Given the description of an element on the screen output the (x, y) to click on. 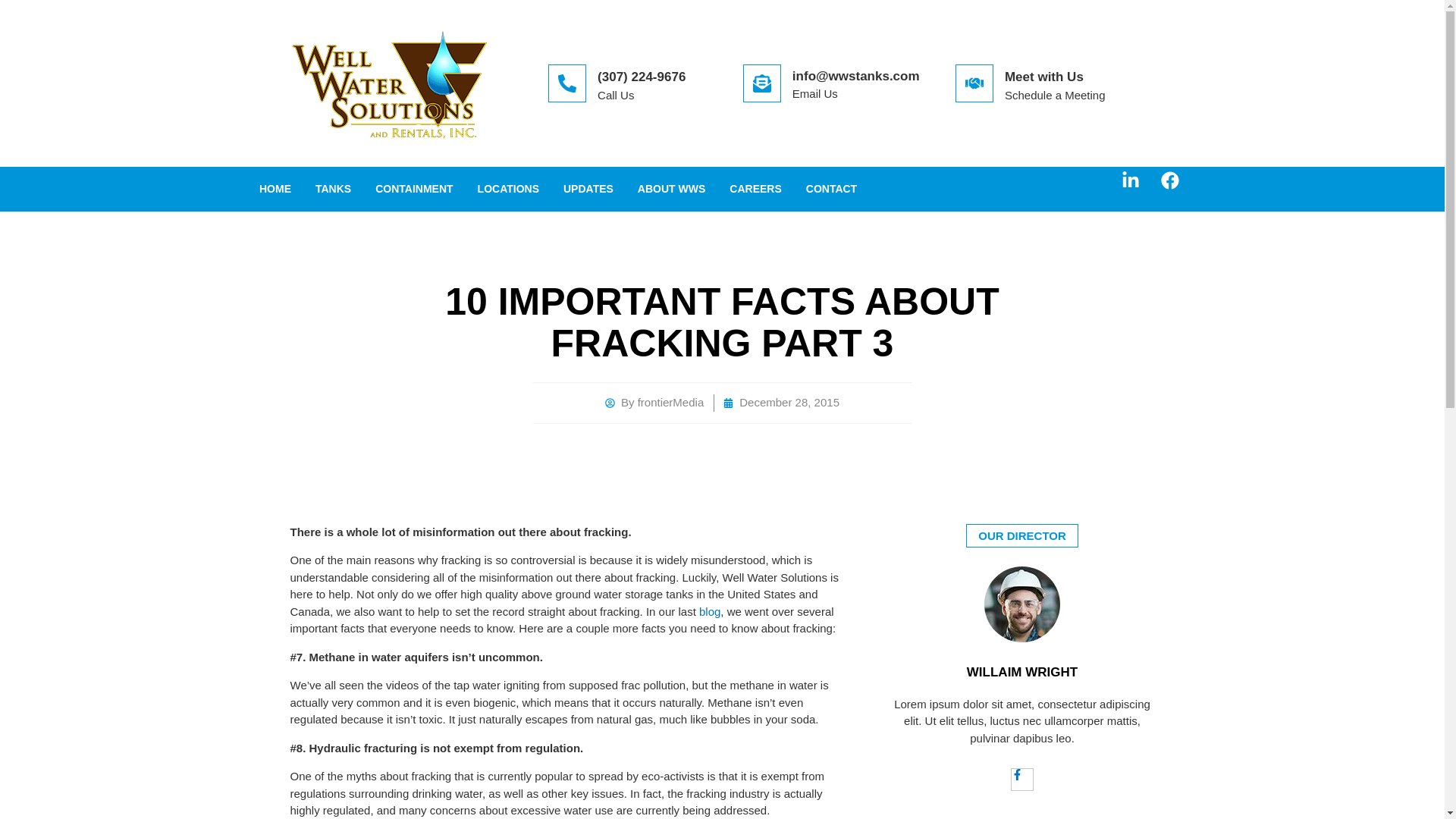
CONTACT (831, 189)
CAREERS (755, 189)
CONTAINMENT (413, 189)
UPDATES (588, 189)
blog (709, 611)
By frontierMedia (654, 402)
TANKS (332, 189)
ABOUT WWS (671, 189)
Meet with Us (1043, 76)
LOCATIONS (508, 189)
